Given the description of an element on the screen output the (x, y) to click on. 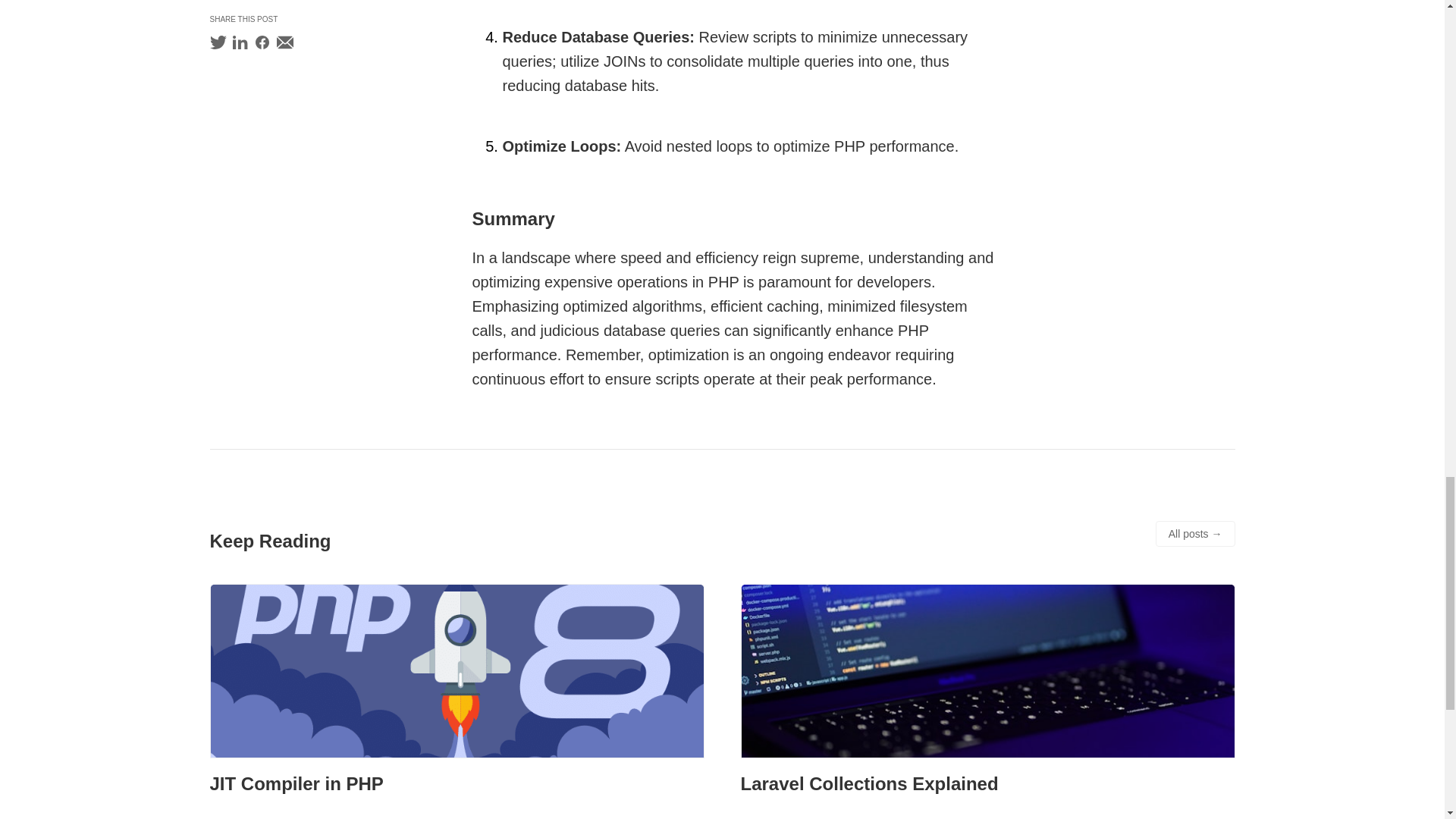
JIT Compiler in PHP (295, 783)
Laravel Collections Explained (868, 783)
JIT Compiler in PHP (295, 783)
JIT Compiler in PHP (456, 672)
Laravel Collections Explained (868, 783)
Laravel Collections Explained (986, 672)
